Given the description of an element on the screen output the (x, y) to click on. 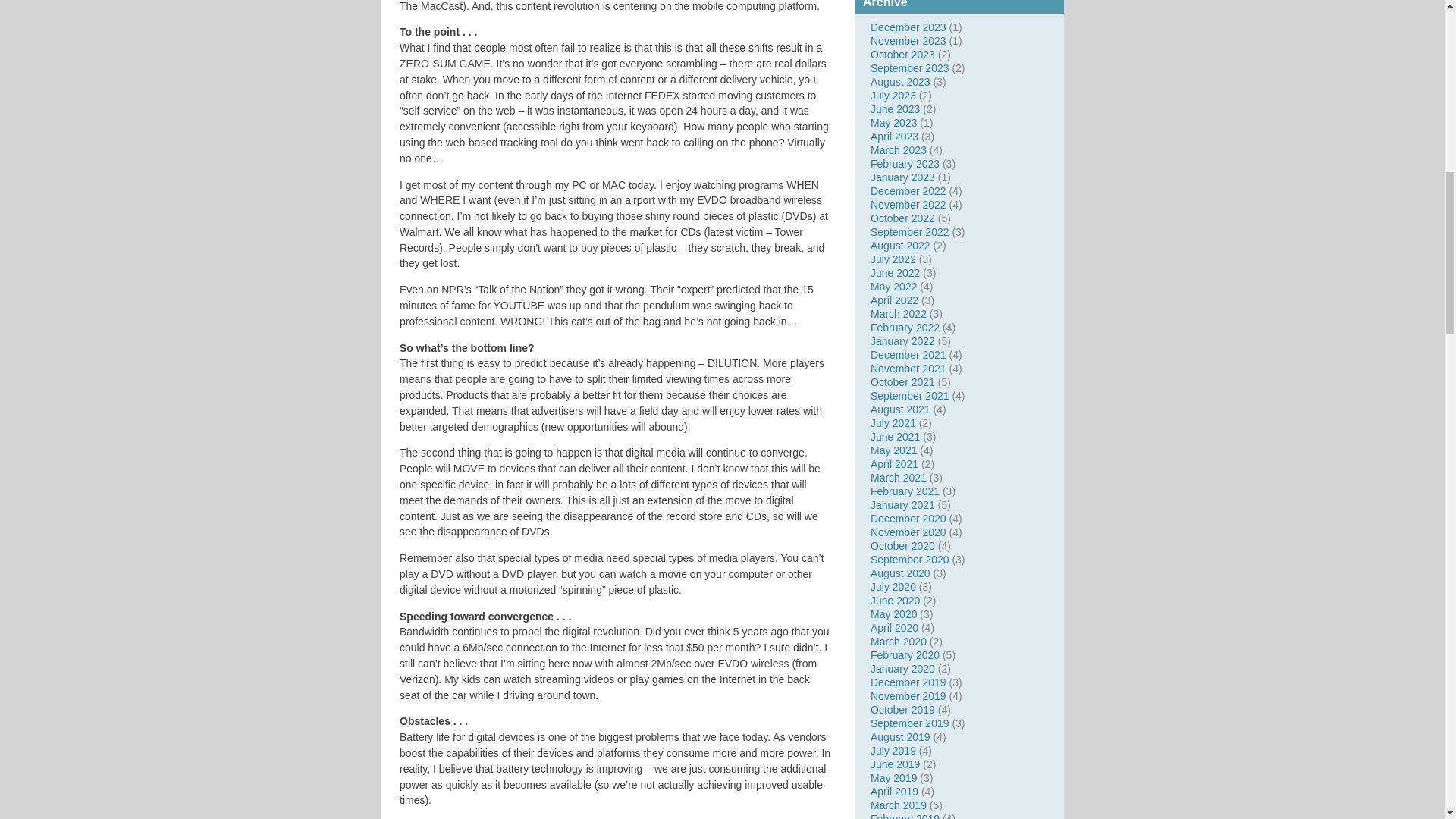
December 2023 (908, 27)
October 2023 (902, 54)
September 2023 (909, 68)
November 2023 (908, 40)
